Given the description of an element on the screen output the (x, y) to click on. 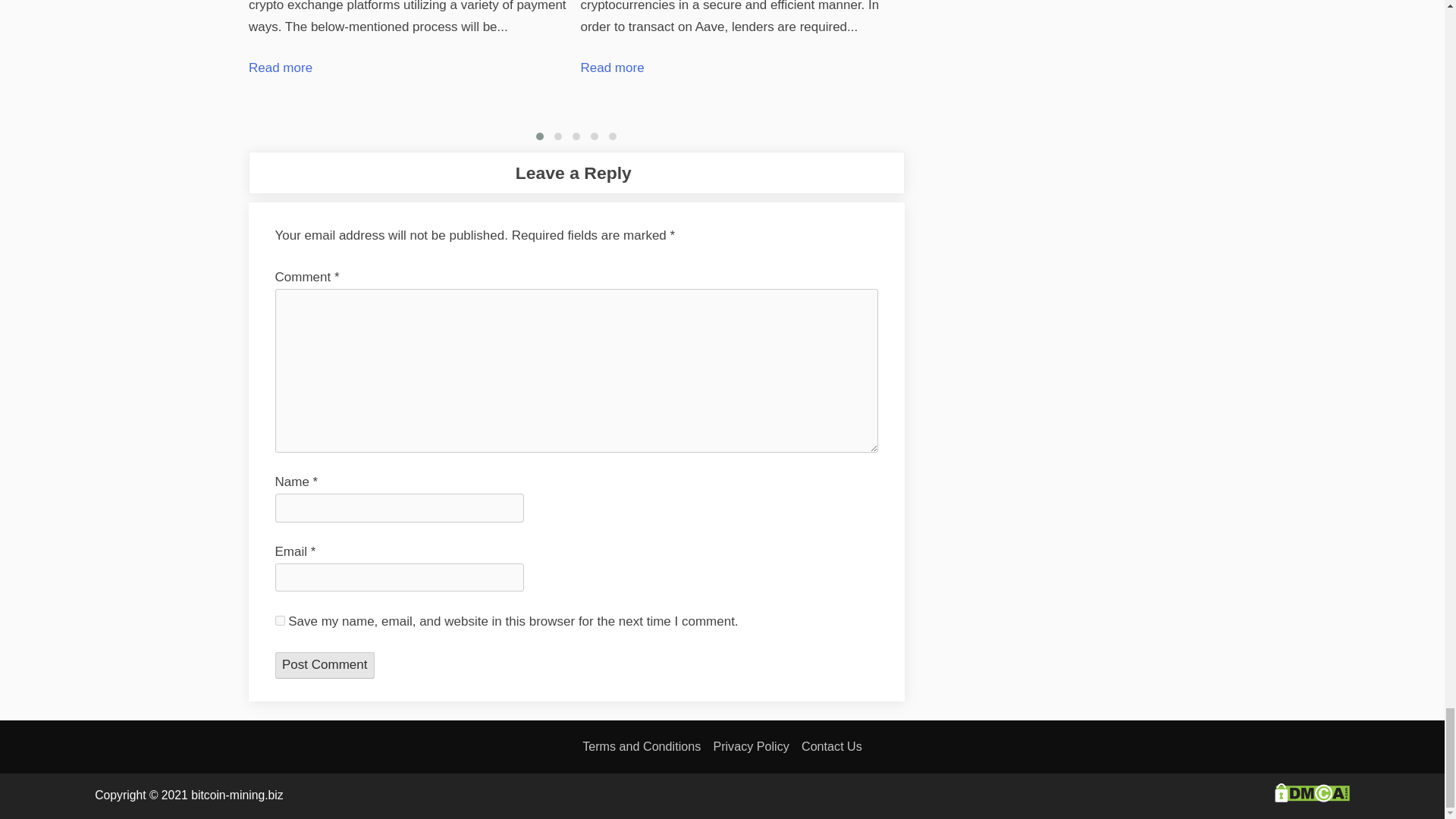
Post Comment (324, 664)
yes (279, 620)
Read more (280, 67)
